Given the description of an element on the screen output the (x, y) to click on. 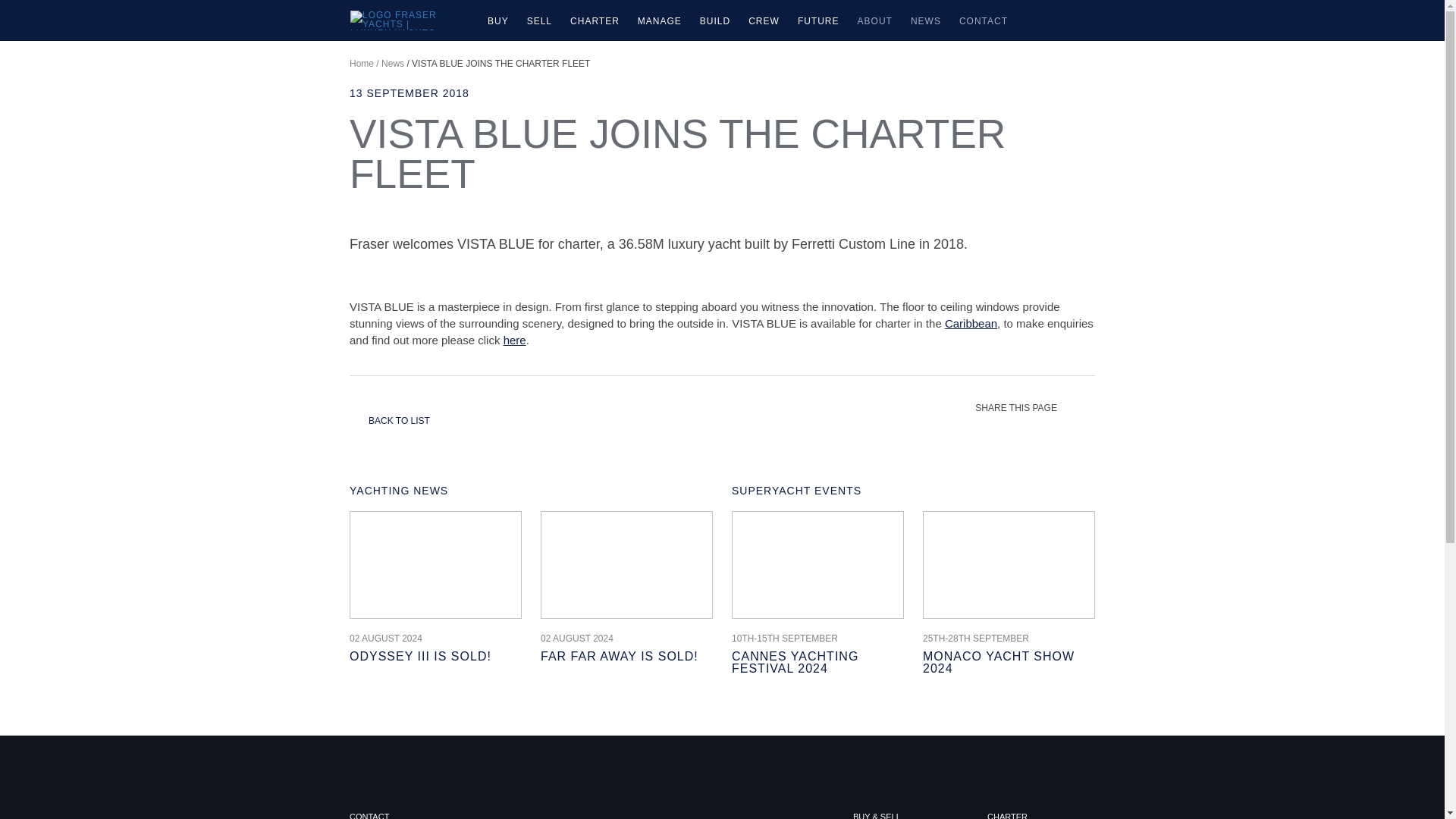
Facebook (943, 763)
Pinterest (996, 763)
Twitter (969, 763)
Instagram (1075, 763)
CHARTER (594, 20)
BUY (498, 20)
LinkedIn (1022, 763)
YouTube (1049, 763)
SELL (539, 20)
